Given the description of an element on the screen output the (x, y) to click on. 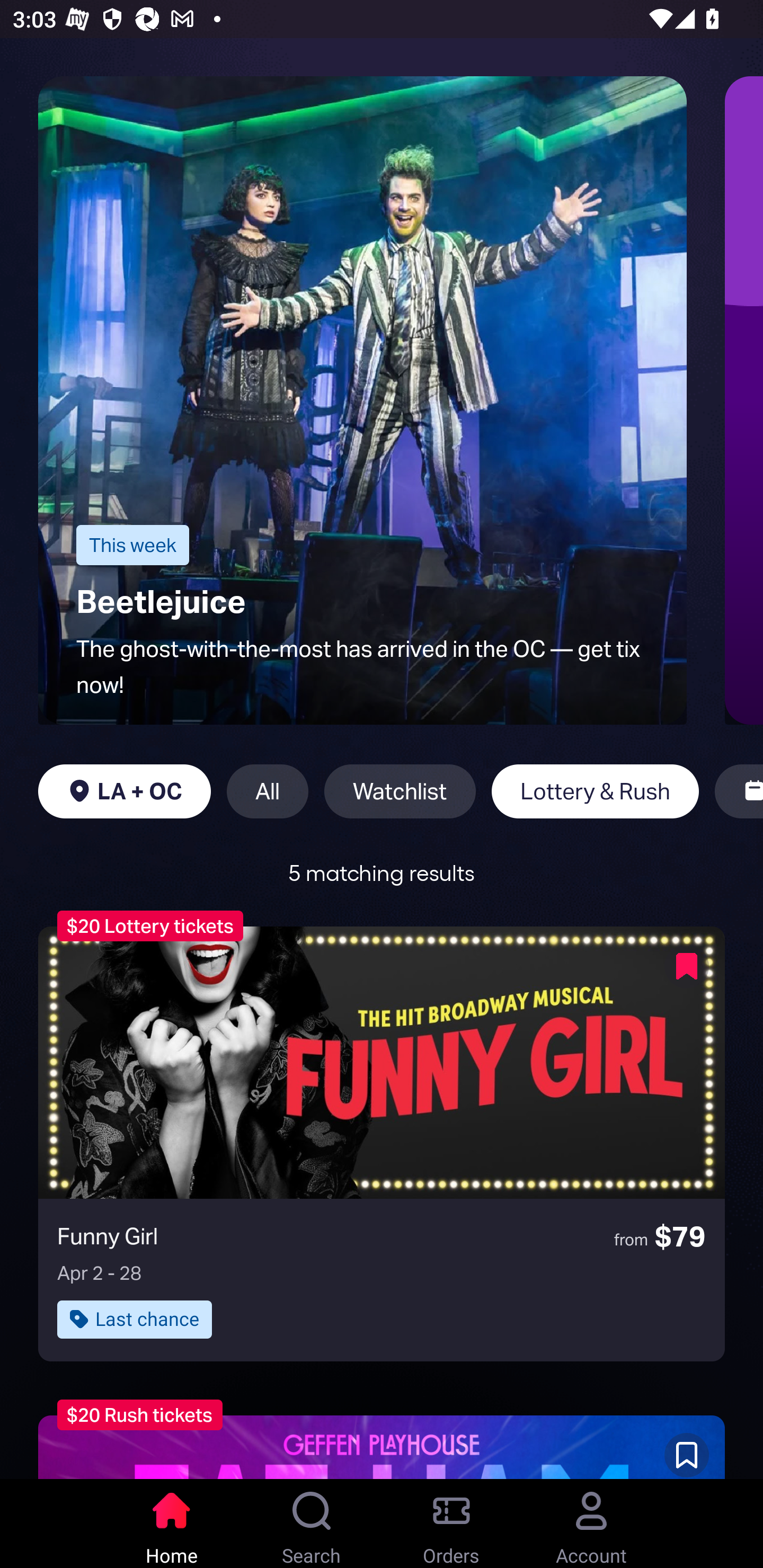
LA + OC (124, 791)
All (267, 791)
Watchlist (400, 791)
Lottery & Rush (594, 791)
Funny Girl from $79 Apr 2 - 28 Last chance (381, 1143)
Search (311, 1523)
Orders (451, 1523)
Account (591, 1523)
